Given the description of an element on the screen output the (x, y) to click on. 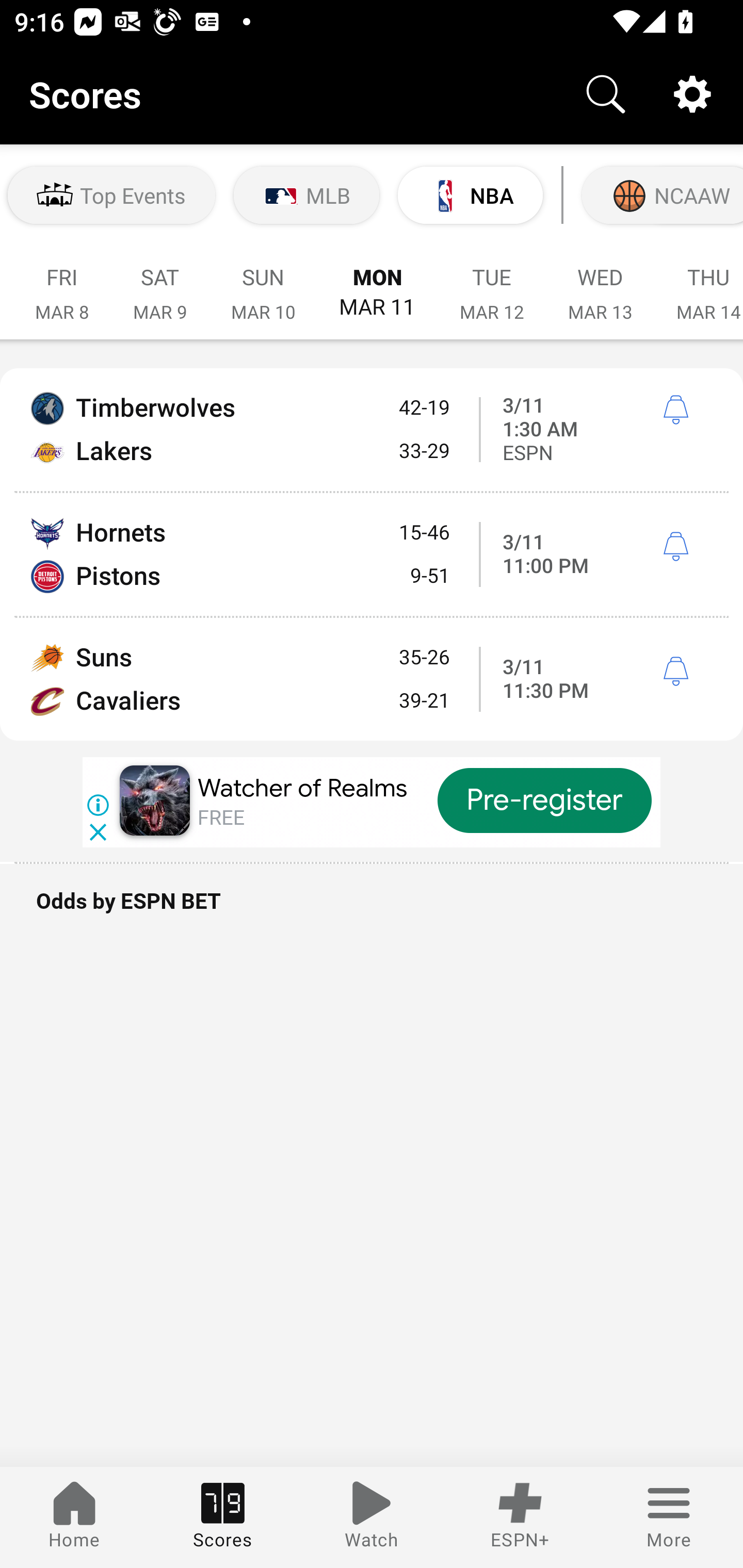
Search (605, 93)
Settings (692, 93)
 Top Events (111, 194)
MLB (306, 194)
NBA (470, 194)
NCAAW (660, 194)
FRI MAR 8 (61, 283)
SAT MAR 9 (159, 283)
SUN MAR 10 (262, 283)
MON MAR 11 (377, 283)
TUE MAR 12 (491, 283)
WED MAR 13 (600, 283)
THU MAR 14 (698, 283)
í (675, 409)
Hornets 15-46 Pistons 9-51 3/11 11:00 PM í (371, 554)
í (675, 545)
Suns 35-26 Cavaliers 39-21 3/11 11:30 PM í (371, 678)
í (675, 671)
Pre-register (544, 800)
Watcher of Realms (302, 787)
FREE (221, 817)
Odds by ESPN BET (371, 910)
Home (74, 1517)
Watch (371, 1517)
ESPN+ (519, 1517)
More (668, 1517)
